Given the description of an element on the screen output the (x, y) to click on. 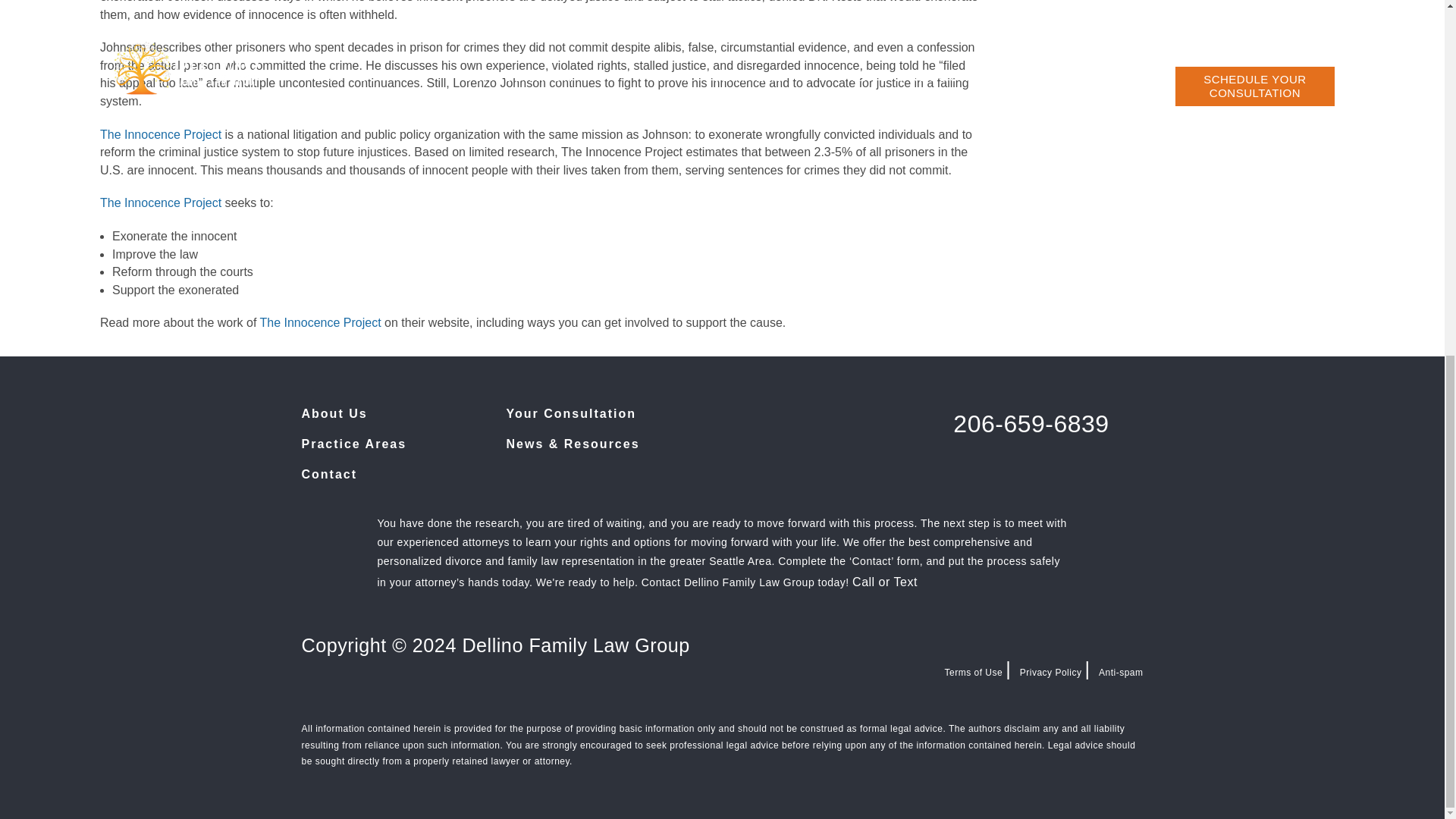
The Innocence Project (160, 133)
The Innocence Project  (162, 202)
The Innocence Project (319, 322)
